Given the description of an element on the screen output the (x, y) to click on. 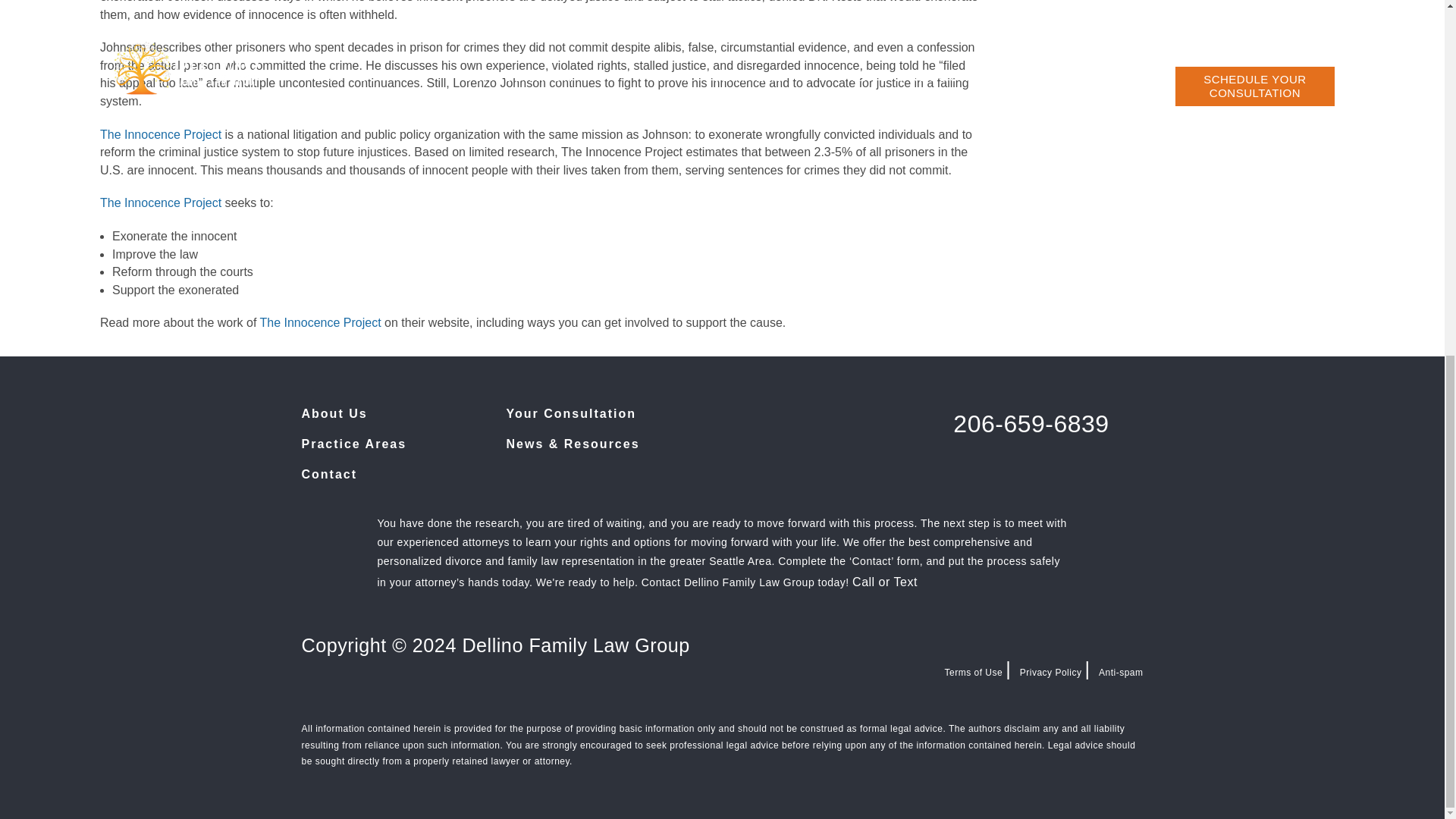
The Innocence Project (160, 133)
The Innocence Project  (162, 202)
The Innocence Project (319, 322)
